Given the description of an element on the screen output the (x, y) to click on. 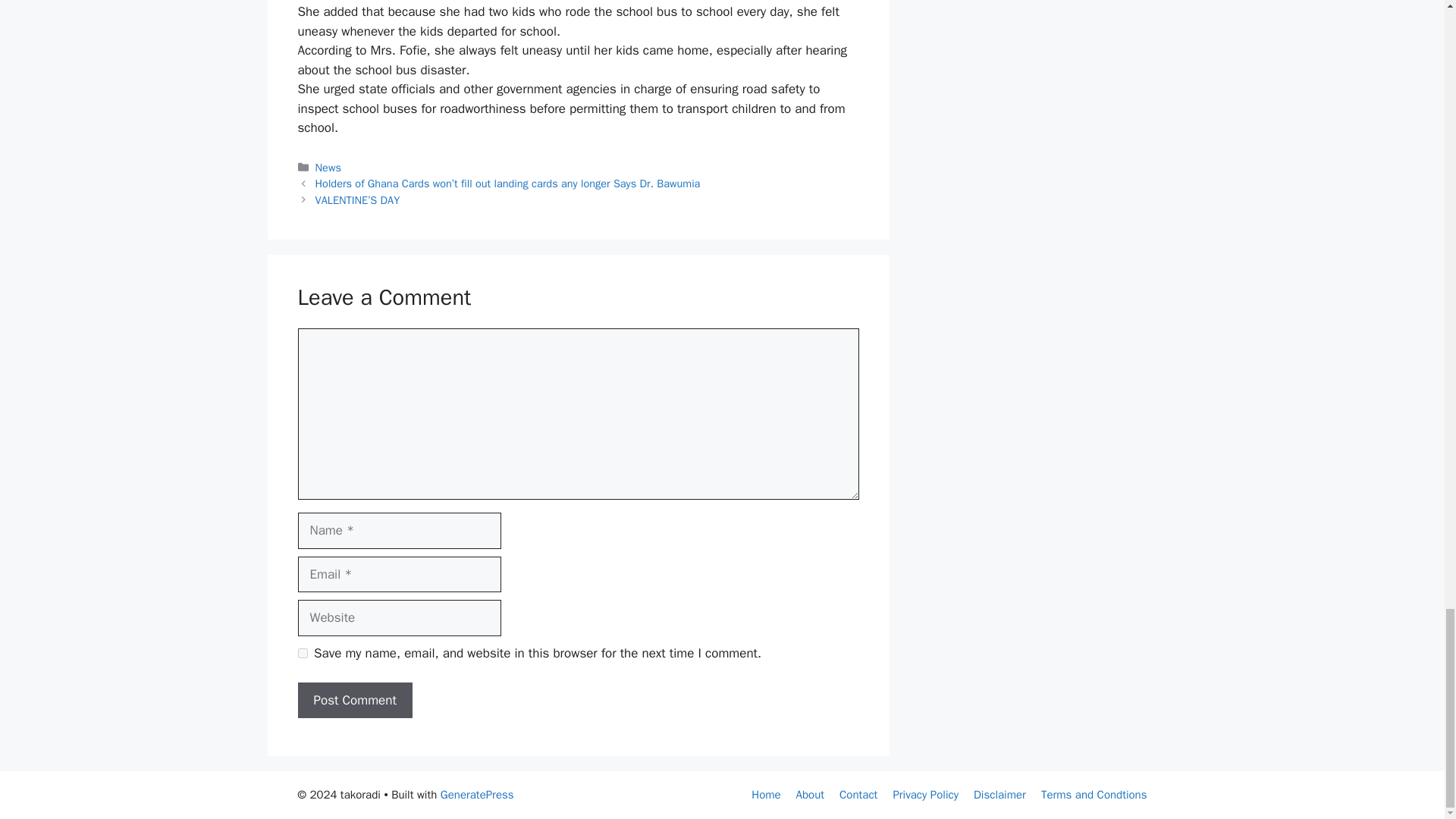
Post Comment (354, 700)
Disclaimer (1000, 794)
Contact (858, 794)
GeneratePress (477, 794)
News (327, 167)
Home (765, 794)
Post Comment (354, 700)
yes (302, 653)
Privacy Policy (925, 794)
About (810, 794)
Terms and Condtions (1094, 794)
